Given the description of an element on the screen output the (x, y) to click on. 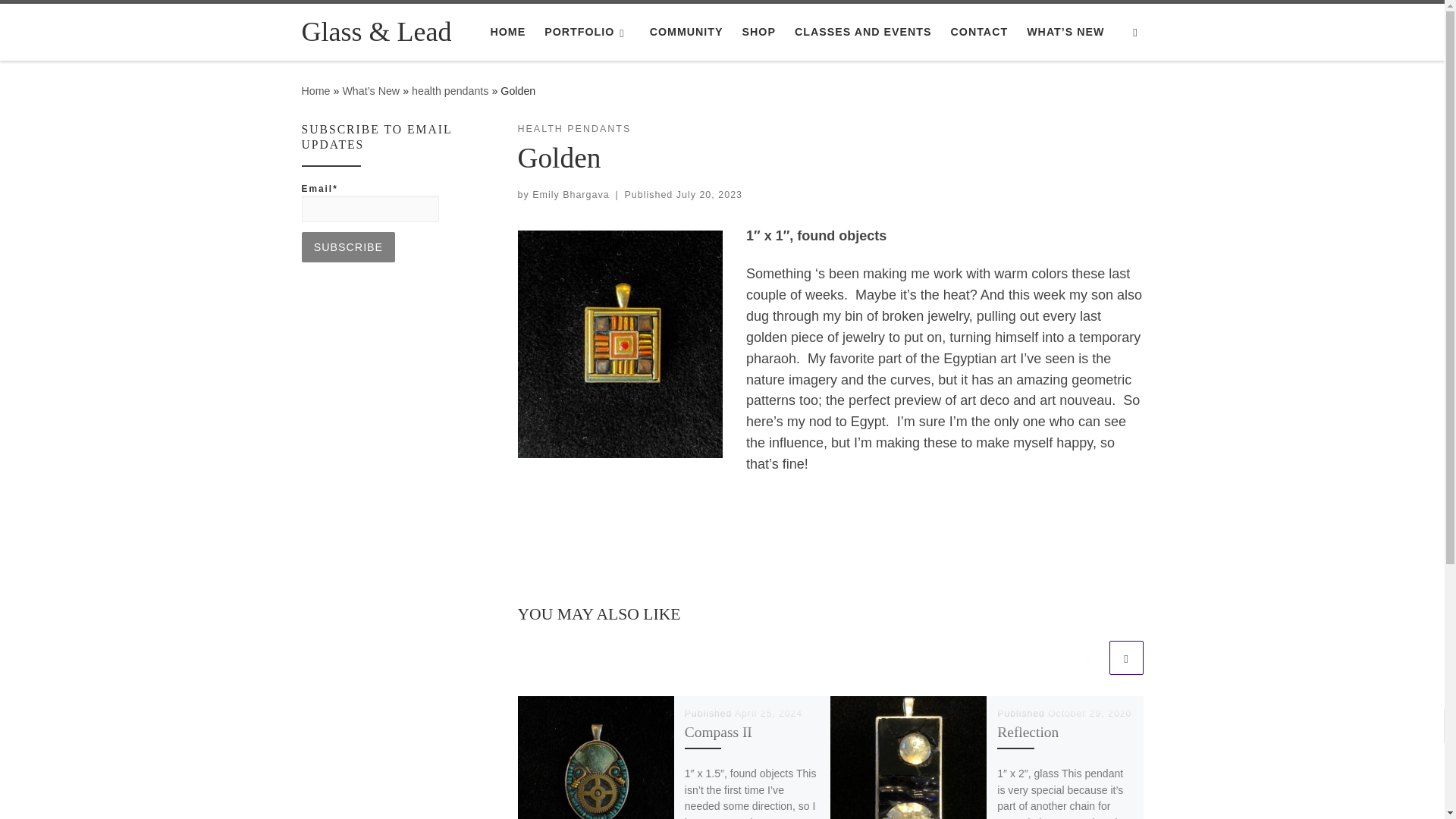
11:37 pm (709, 194)
PORTFOLIO (587, 31)
July 20, 2023 (709, 194)
health pendants (449, 91)
Skip to content (60, 20)
CONTACT (977, 31)
HEALTH PENDANTS (573, 129)
SHOP (758, 31)
Previous related articles (1088, 657)
health pendants (449, 91)
CLASSES AND EVENTS (863, 31)
April 25, 2024 (768, 713)
Next related articles (1125, 657)
Emily Bhargava (570, 194)
